Given the description of an element on the screen output the (x, y) to click on. 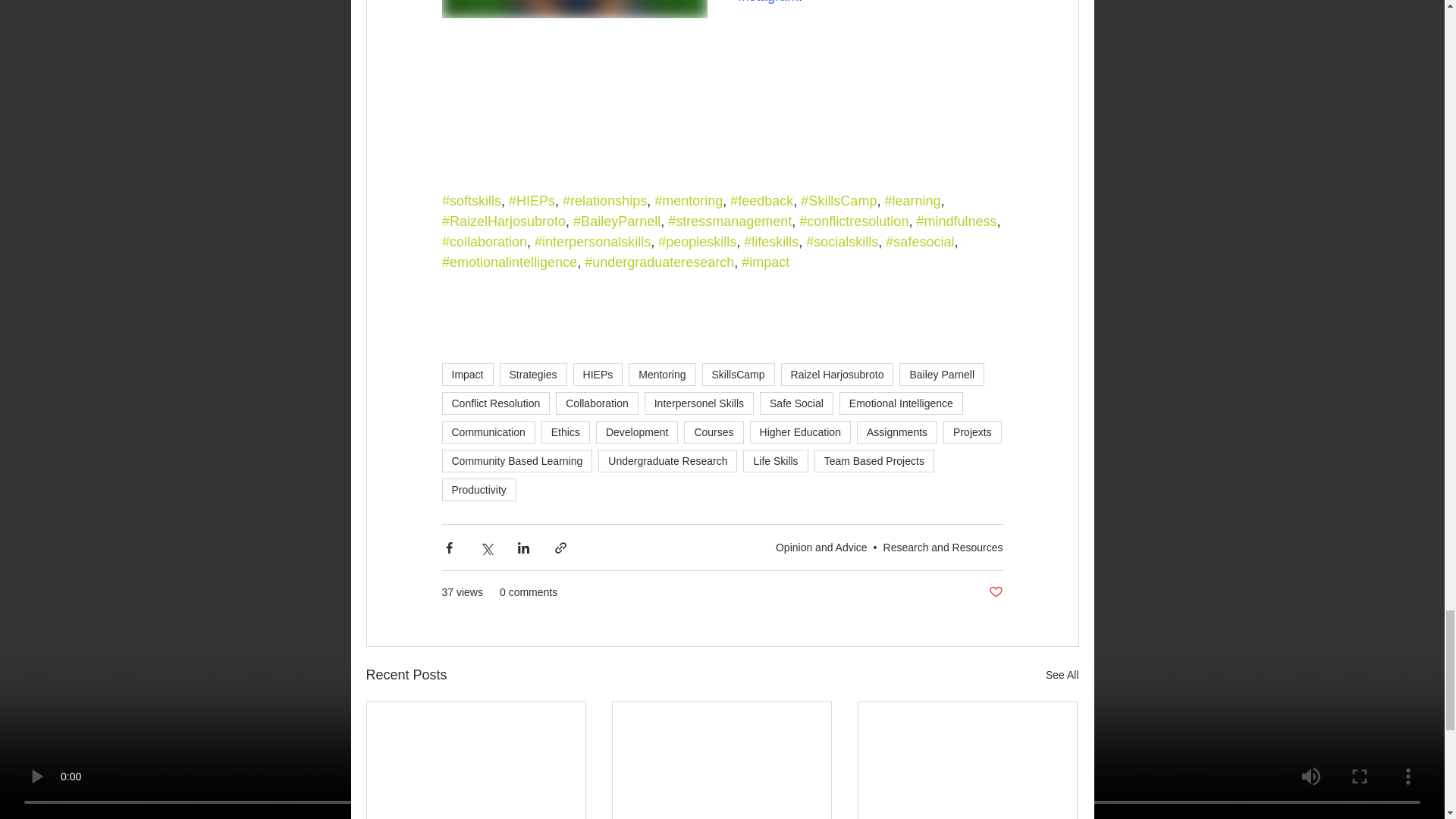
Instagram (766, 2)
